Given the description of an element on the screen output the (x, y) to click on. 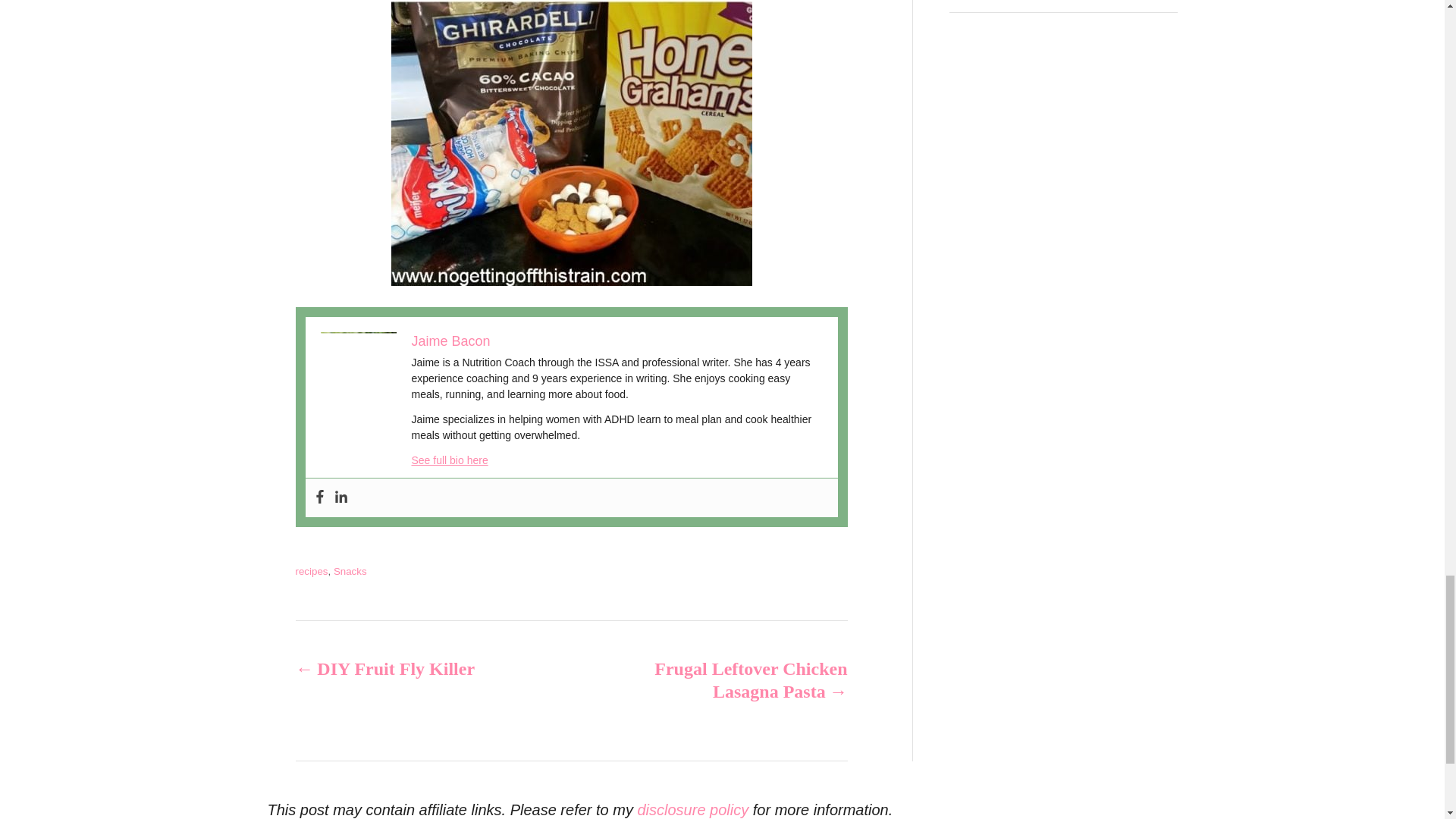
recipes (312, 571)
Frugal Leftover Chicken Lasagna Pasta (736, 679)
Snacks (349, 571)
DIY Fruit Fly Killer (405, 668)
See full bio here (448, 460)
Jaime Bacon (449, 340)
disclosure policy (692, 809)
